Given the description of an element on the screen output the (x, y) to click on. 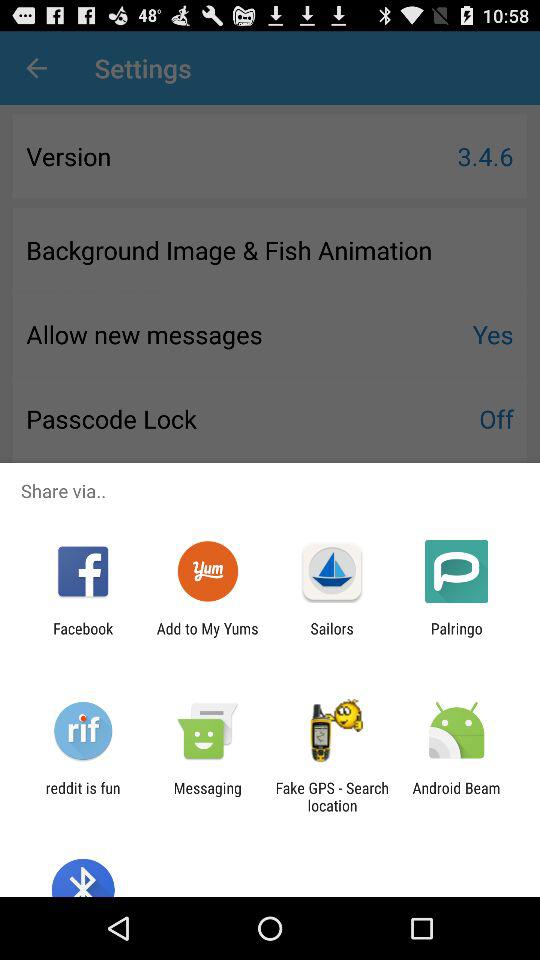
open the icon next to fake gps search app (207, 796)
